Given the description of an element on the screen output the (x, y) to click on. 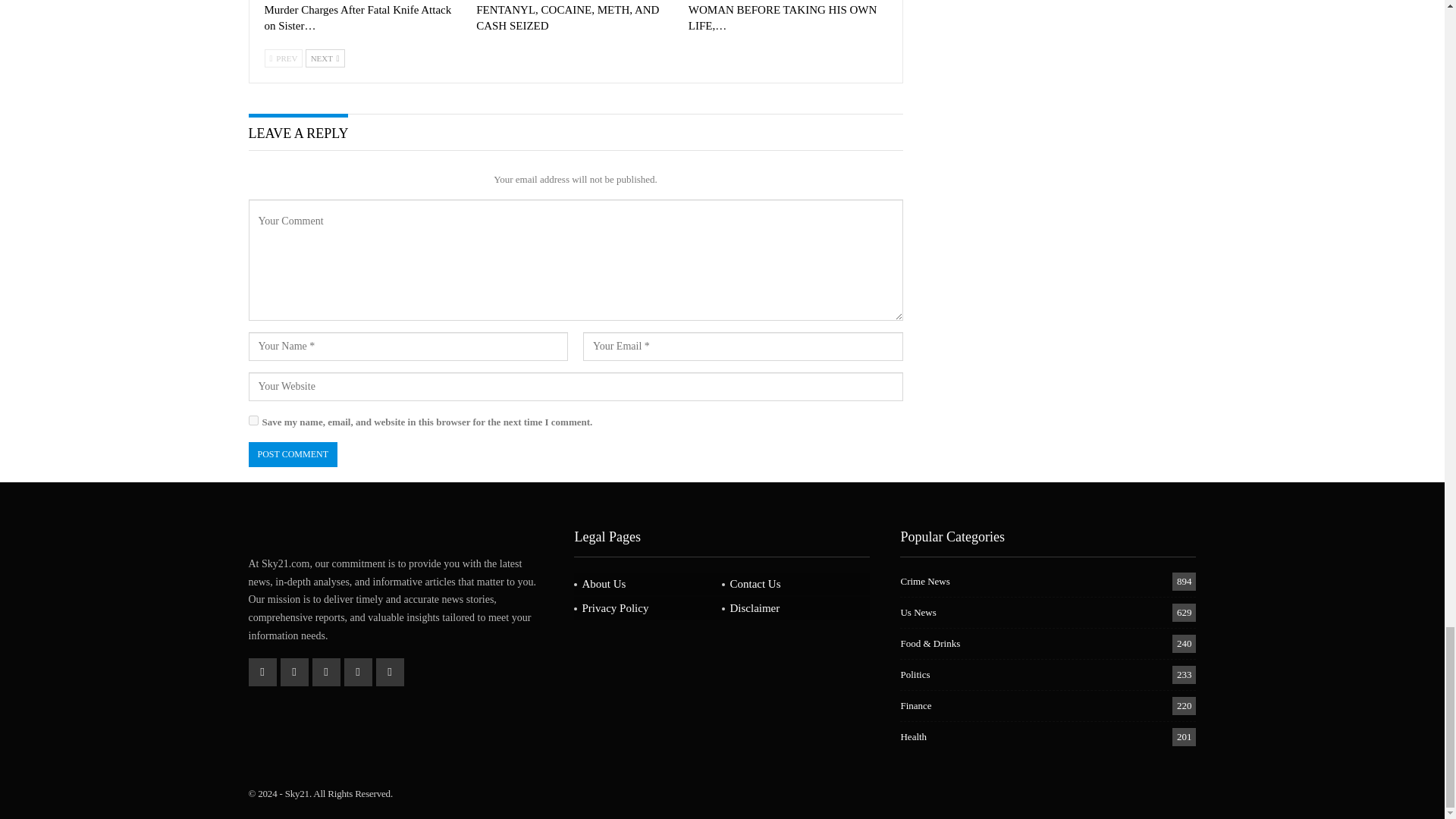
Post Comment (292, 454)
yes (253, 420)
